Given the description of an element on the screen output the (x, y) to click on. 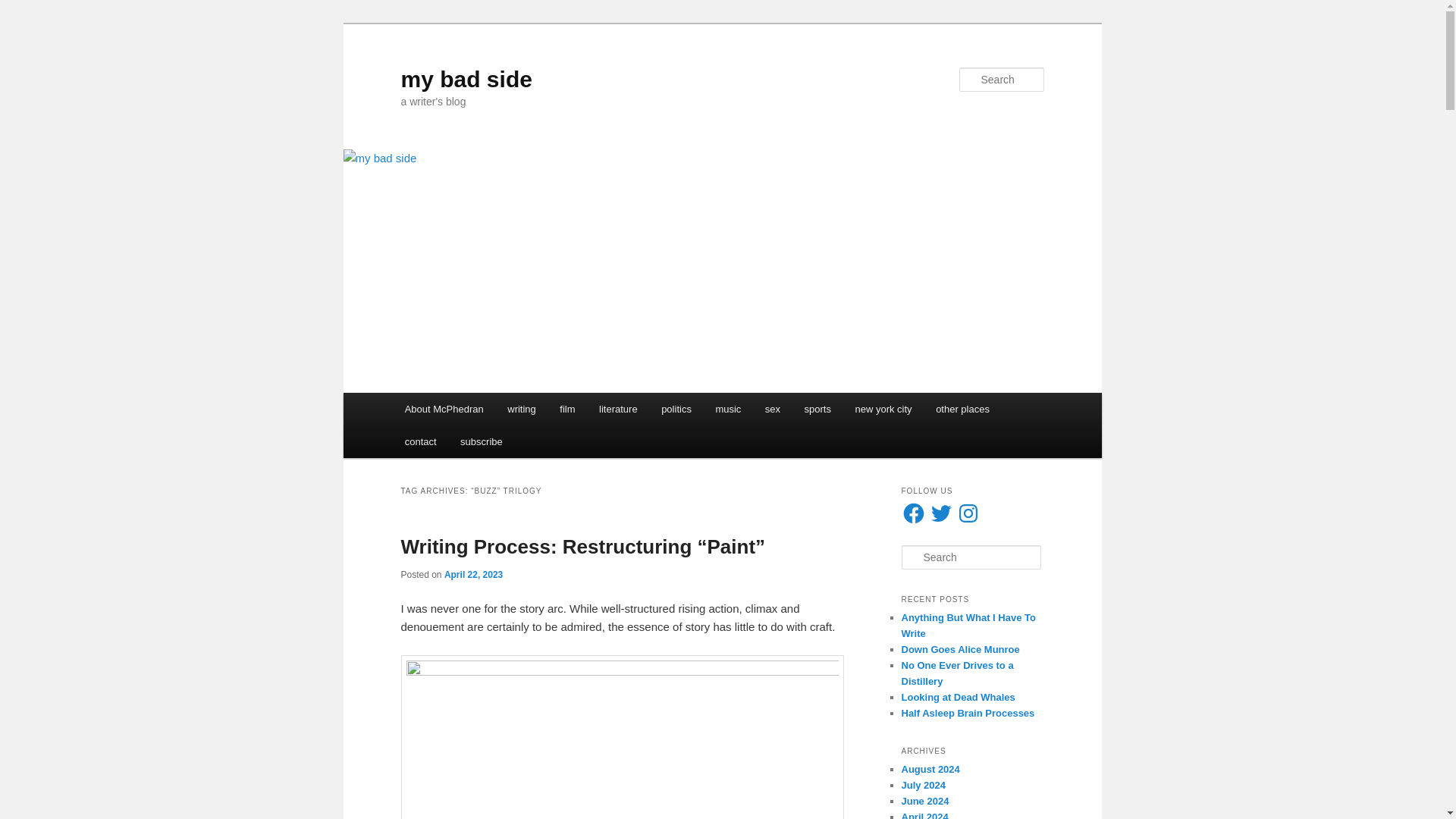
sex (772, 409)
music (727, 409)
writing (522, 409)
10:51 am (473, 574)
April 22, 2023 (473, 574)
new york city (883, 409)
literature (617, 409)
About McPhedran (444, 409)
contact (420, 441)
other places (962, 409)
Search (24, 8)
politics (676, 409)
my bad side (465, 78)
film (568, 409)
